Given the description of an element on the screen output the (x, y) to click on. 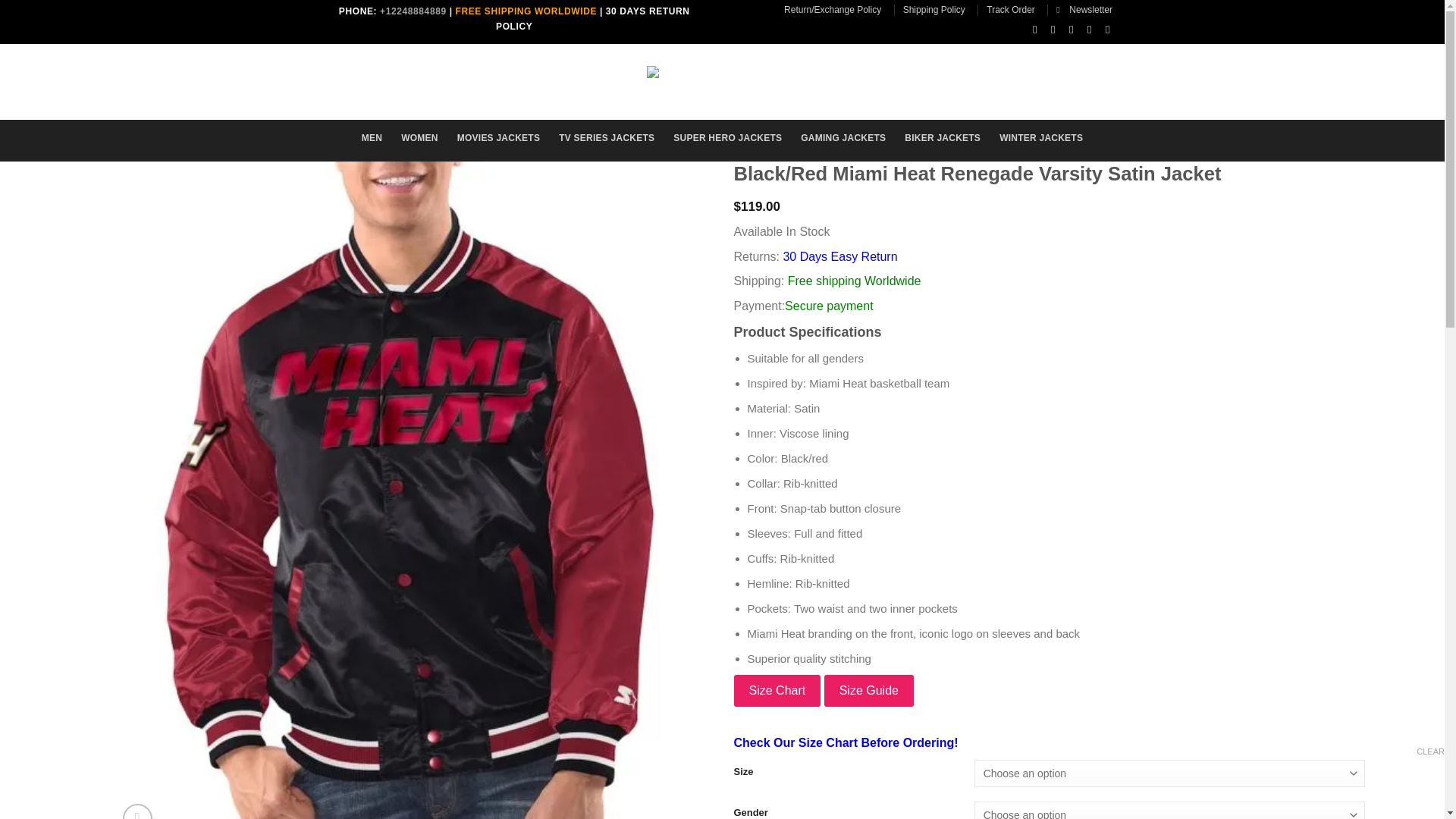
GAMING JACKETS (842, 137)
Cart (1072, 78)
Size Guide (869, 690)
Sign up for Newsletter (1084, 9)
Search (411, 76)
Newsletter (1084, 9)
BIKER JACKETS (941, 137)
Track Order (1011, 9)
CLEAR (1430, 751)
Size Chart (777, 690)
